Given the description of an element on the screen output the (x, y) to click on. 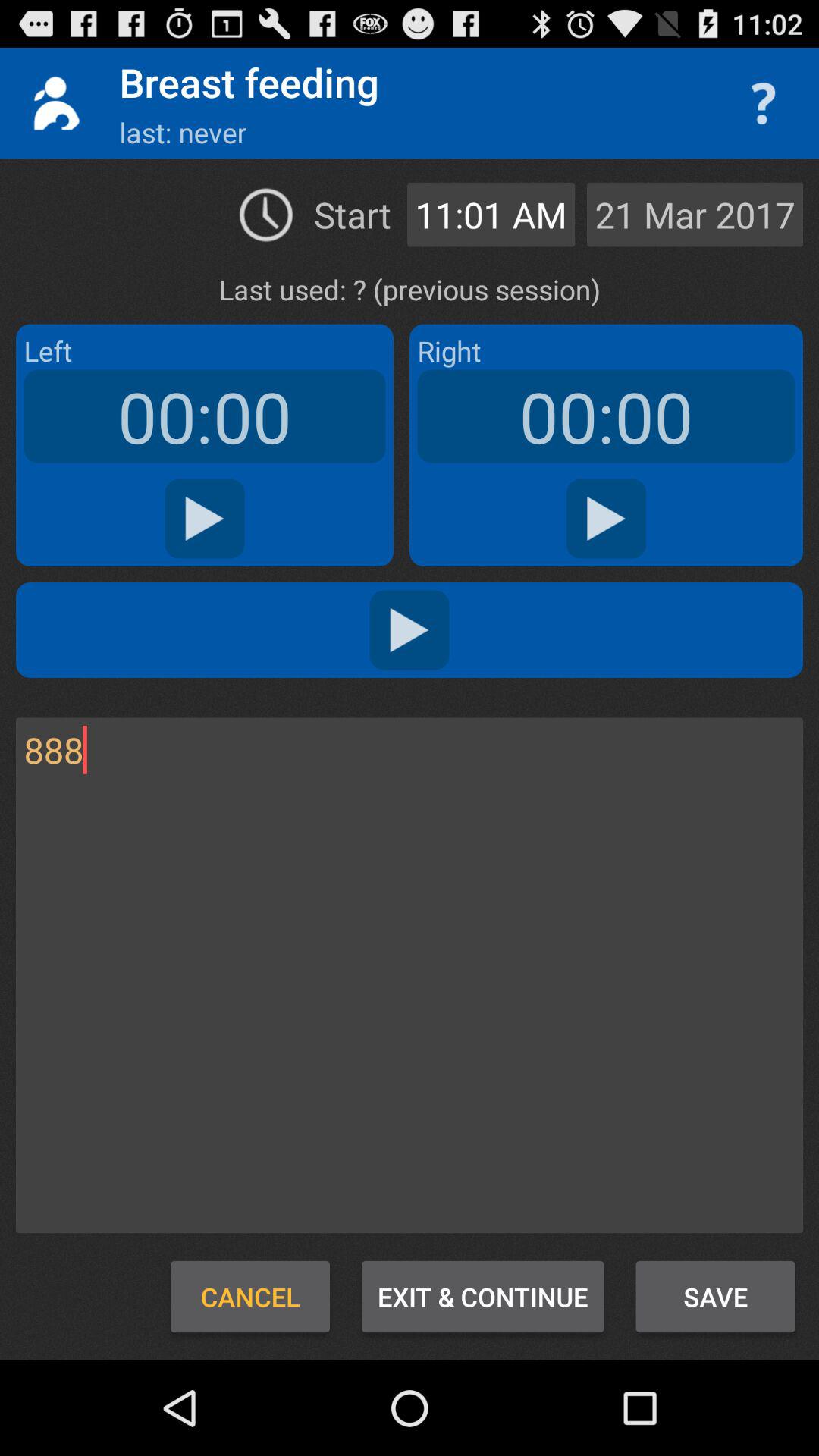
click to start left countdown (204, 518)
